Given the description of an element on the screen output the (x, y) to click on. 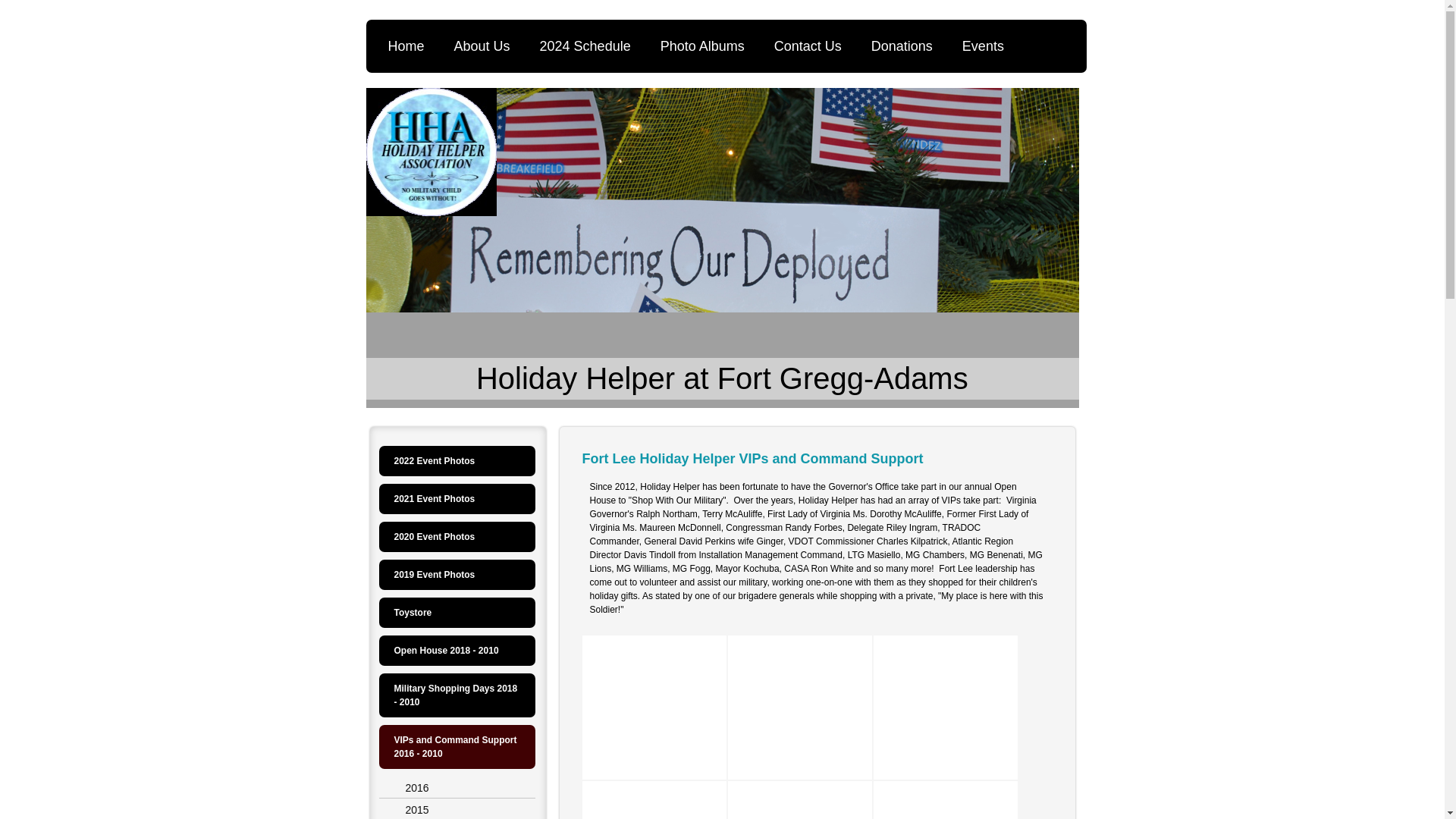
Open House 2018 - 2010 (456, 650)
2022 Event Photos (456, 460)
About Us (486, 45)
Events (987, 45)
2021 Event Photos (456, 499)
Holiday Helper at Fort Gregg-Adams  (722, 378)
Toystore (456, 612)
Donations (905, 45)
VIPs and Command Support 2016 - 2010 (456, 746)
2015 (456, 809)
